Given the description of an element on the screen output the (x, y) to click on. 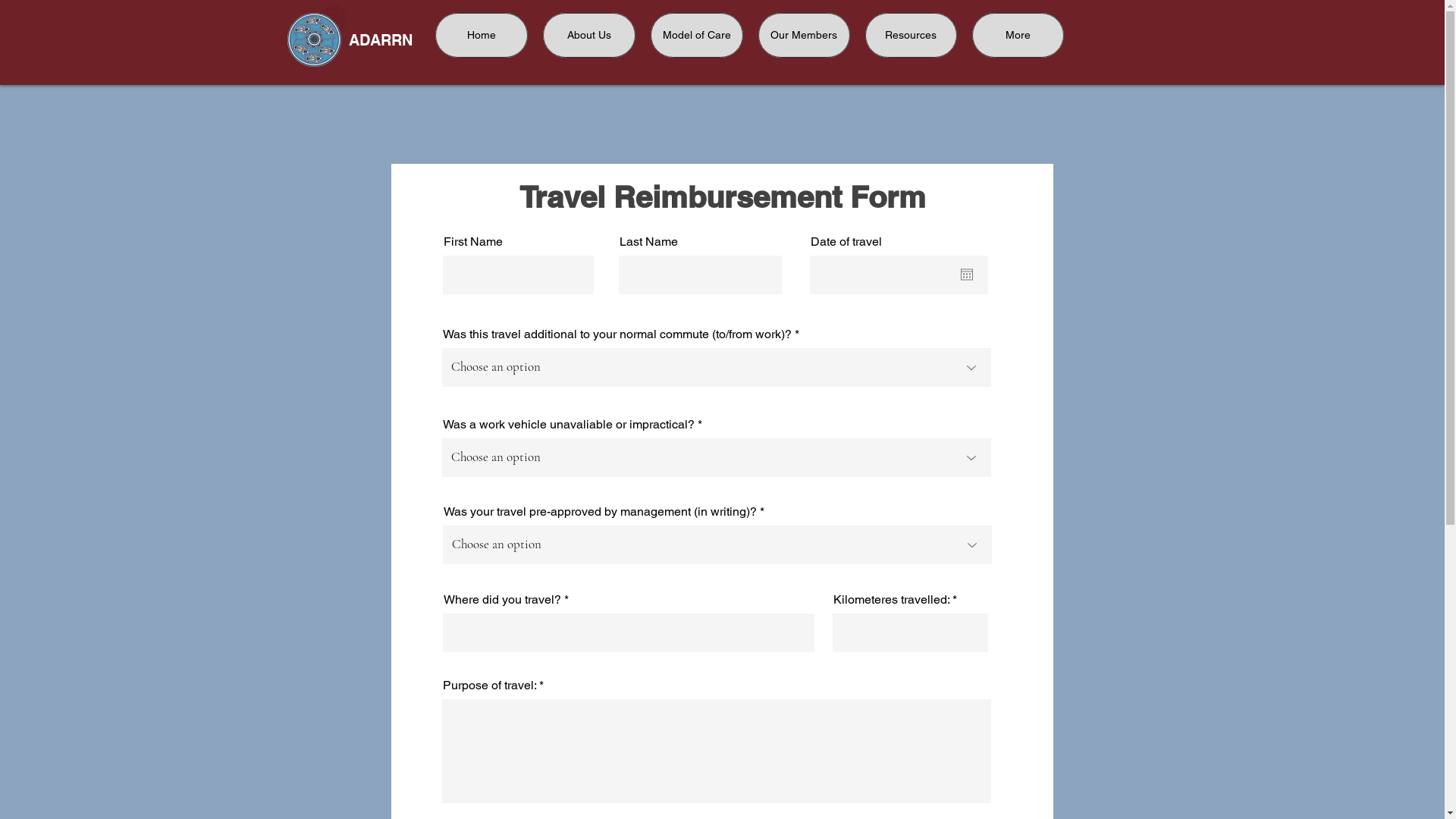
Home Element type: text (481, 34)
Fish.jpg Element type: hover (331, 19)
Model of Care Element type: text (696, 34)
Our Members Element type: text (804, 34)
Resources Element type: text (910, 34)
Fish.jpg Element type: hover (313, 39)
About Us Element type: text (588, 34)
